Given the description of an element on the screen output the (x, y) to click on. 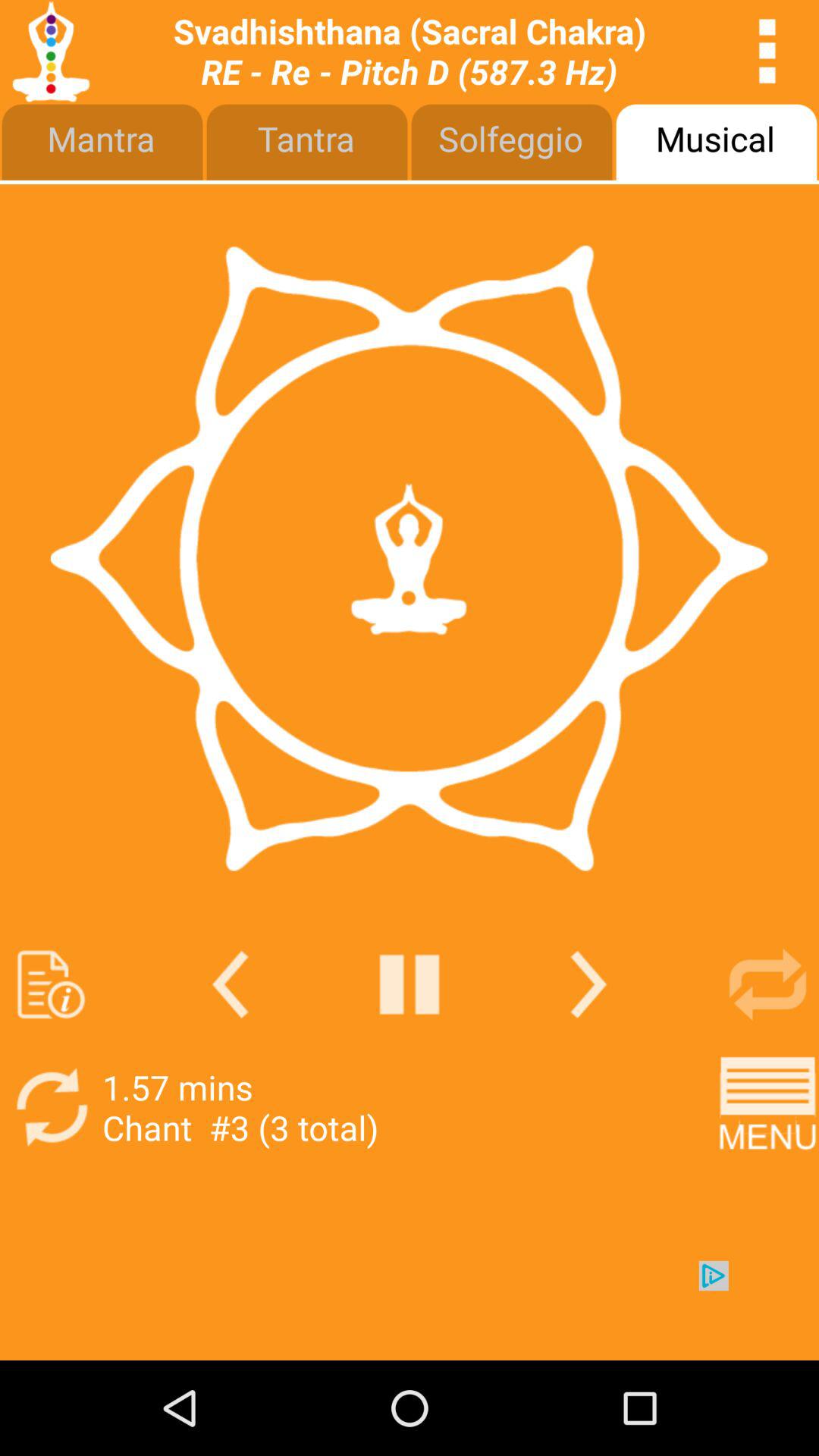
select repeat (767, 984)
